Given the description of an element on the screen output the (x, y) to click on. 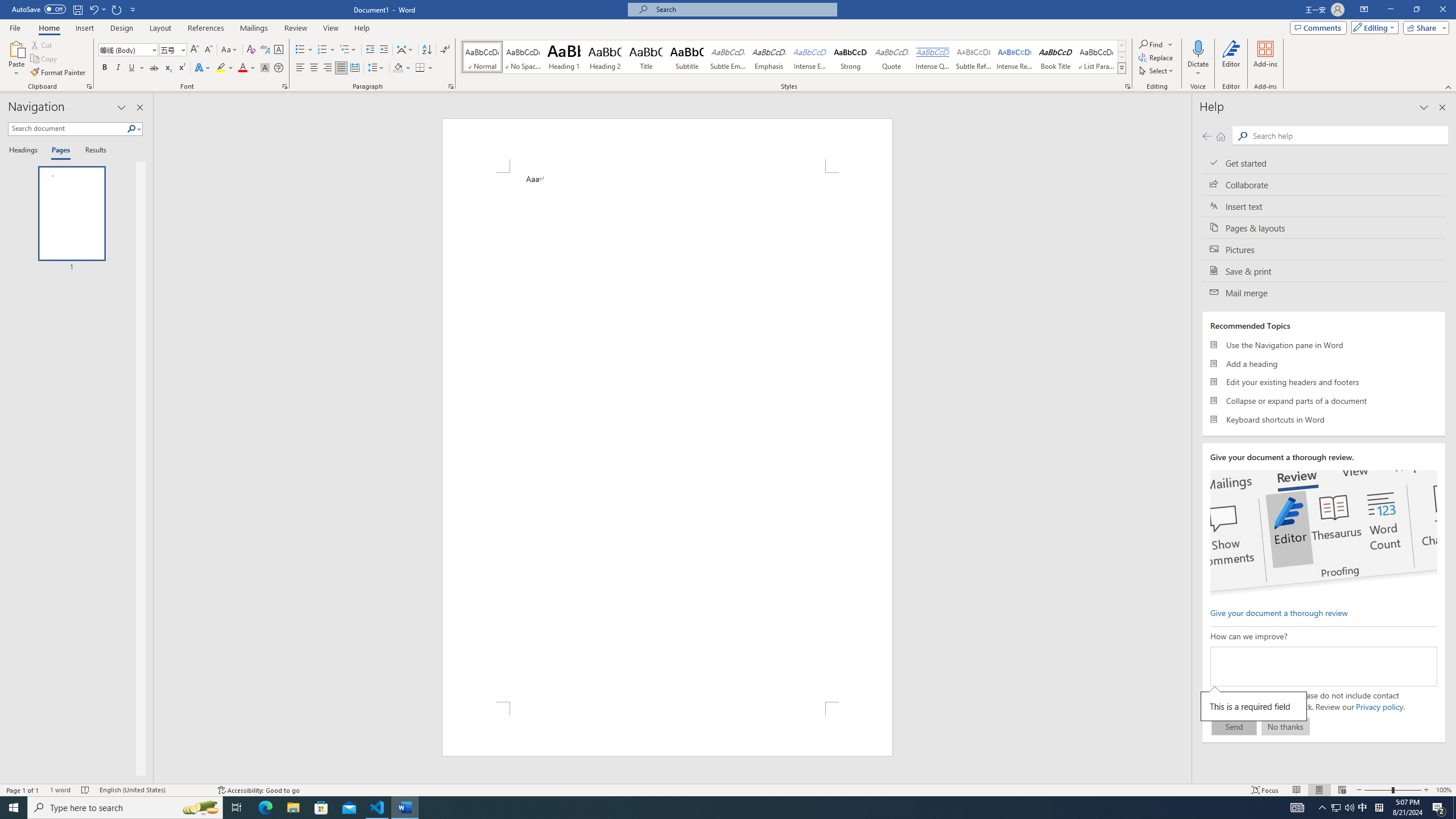
Edit your existing headers and footers (1323, 381)
Insert text (1323, 206)
No thanks (1285, 726)
Font Color Red (241, 67)
